Given the description of an element on the screen output the (x, y) to click on. 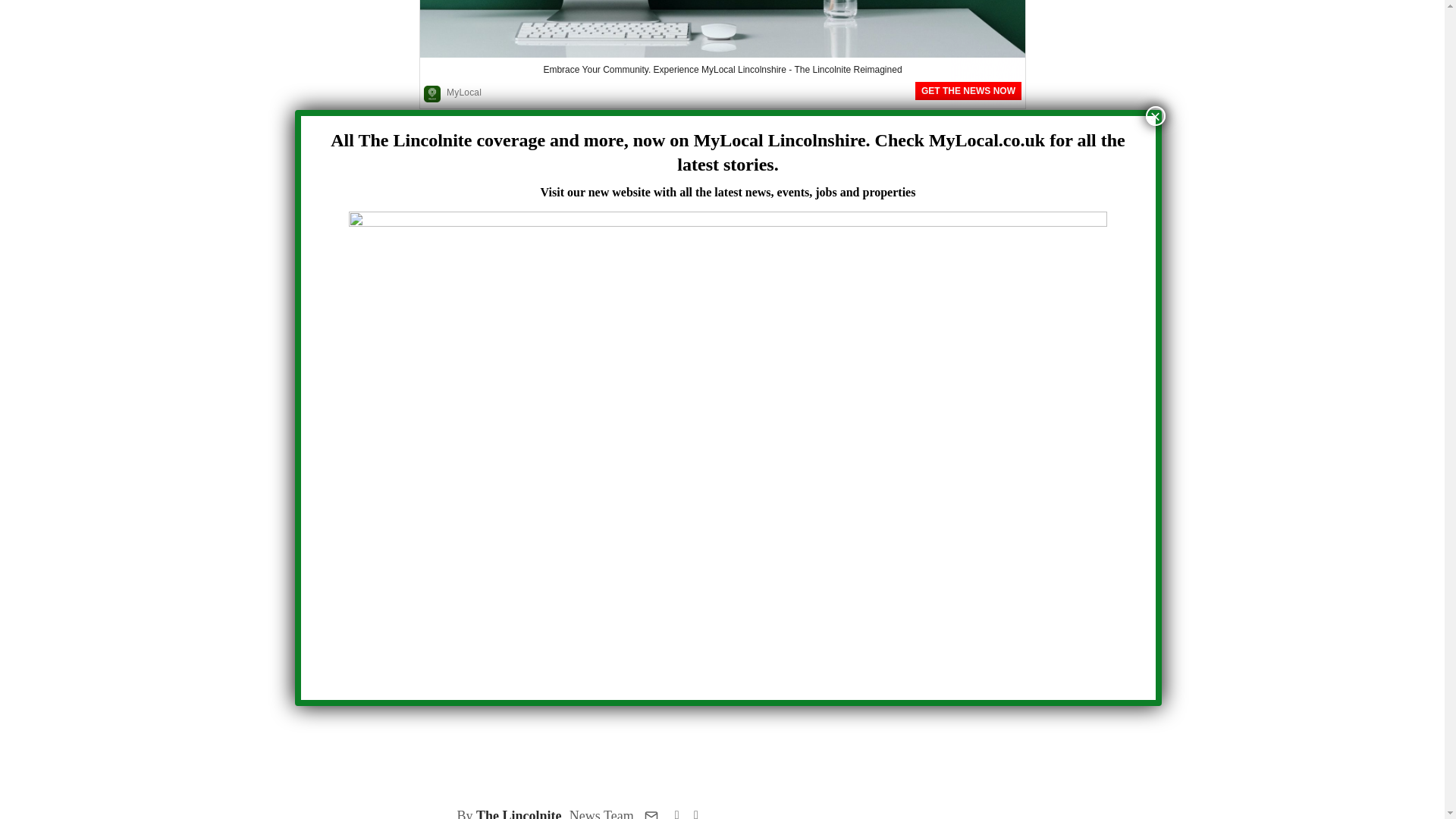
Contact author (651, 814)
